Given the description of an element on the screen output the (x, y) to click on. 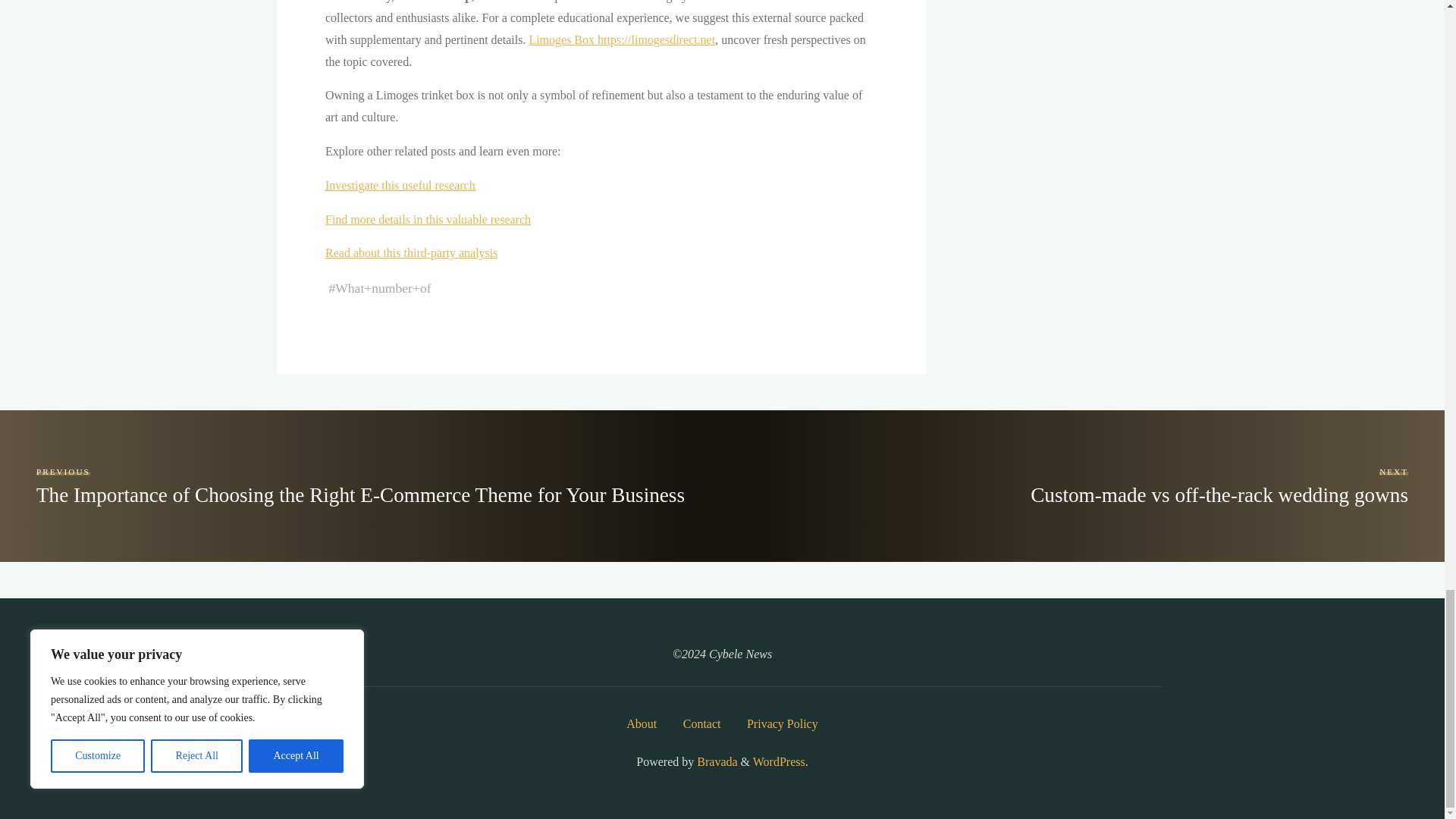
Bravada WordPress Theme by Cryout Creations (715, 761)
Semantic Personal Publishing Platform (778, 761)
Find more details in this valuable research (426, 219)
Read about this third-party analysis (410, 252)
Investigate this useful research (399, 185)
